Given the description of an element on the screen output the (x, y) to click on. 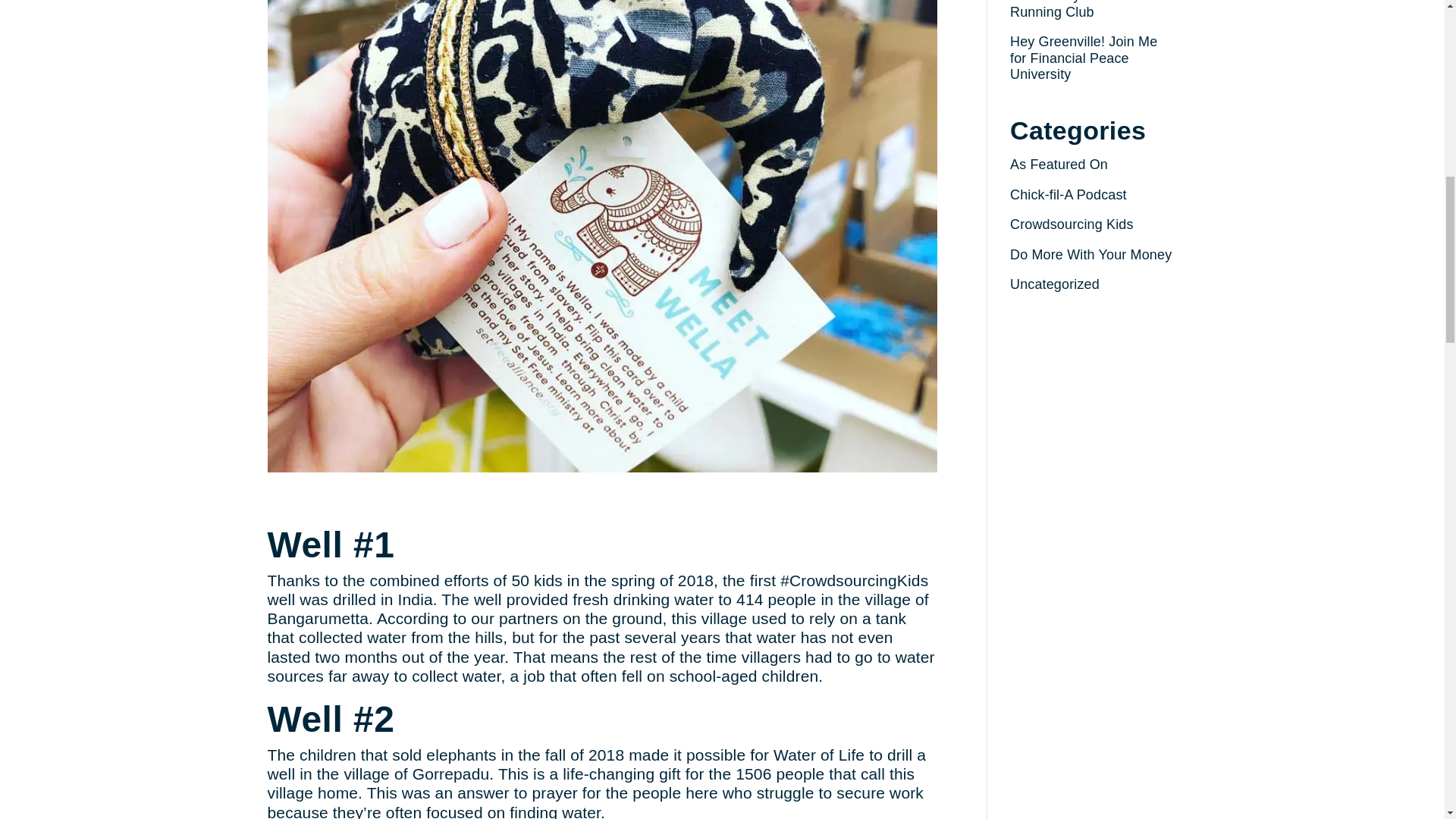
How to Start an Elementary School Running Club (1067, 9)
Crowdsourcing Kids (1072, 224)
Chick-fil-A Podcast (1068, 193)
Do More With Your Money (1091, 254)
As Featured On (1059, 164)
Hey Greenville! Join Me for Financial Peace University (1083, 57)
Uncategorized (1054, 283)
